Given the description of an element on the screen output the (x, y) to click on. 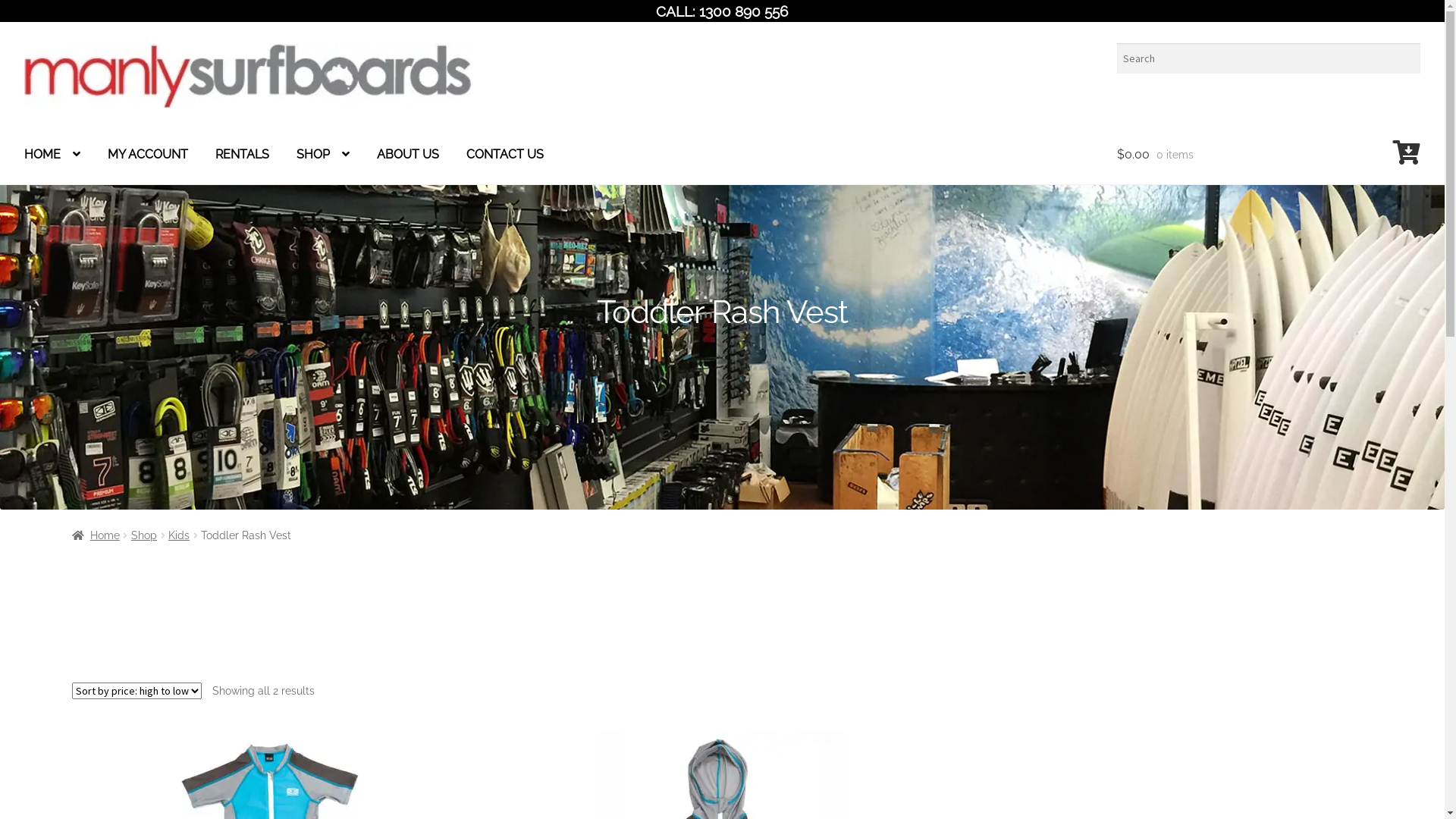
Home Element type: text (95, 535)
submit Element type: text (834, 577)
SHOP Element type: text (322, 154)
ABOUT US Element type: text (407, 154)
RENTALS Element type: text (242, 154)
CONTACT US Element type: text (504, 154)
HOME Element type: text (52, 154)
Shop Element type: text (143, 535)
$0.00 0 items Element type: text (1268, 154)
Skip to navigation Element type: text (23, 42)
MY ACCOUNT Element type: text (147, 154)
Kids Element type: text (178, 535)
